Given the description of an element on the screen output the (x, y) to click on. 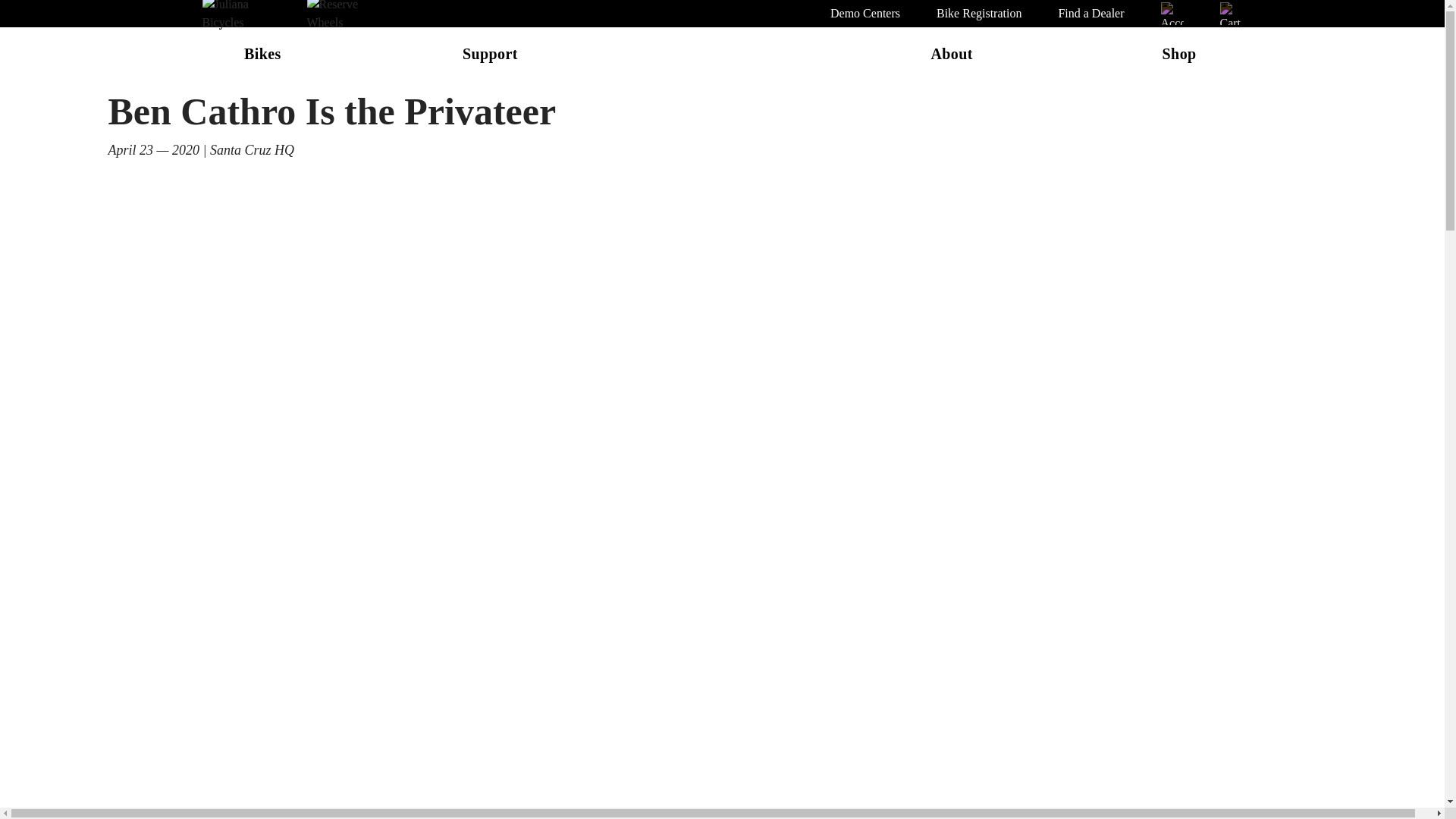
Find a Dealer (1091, 13)
About (951, 57)
Bike Registration (979, 13)
Bikes (262, 57)
Support (489, 57)
Demo Centers (864, 13)
